Given the description of an element on the screen output the (x, y) to click on. 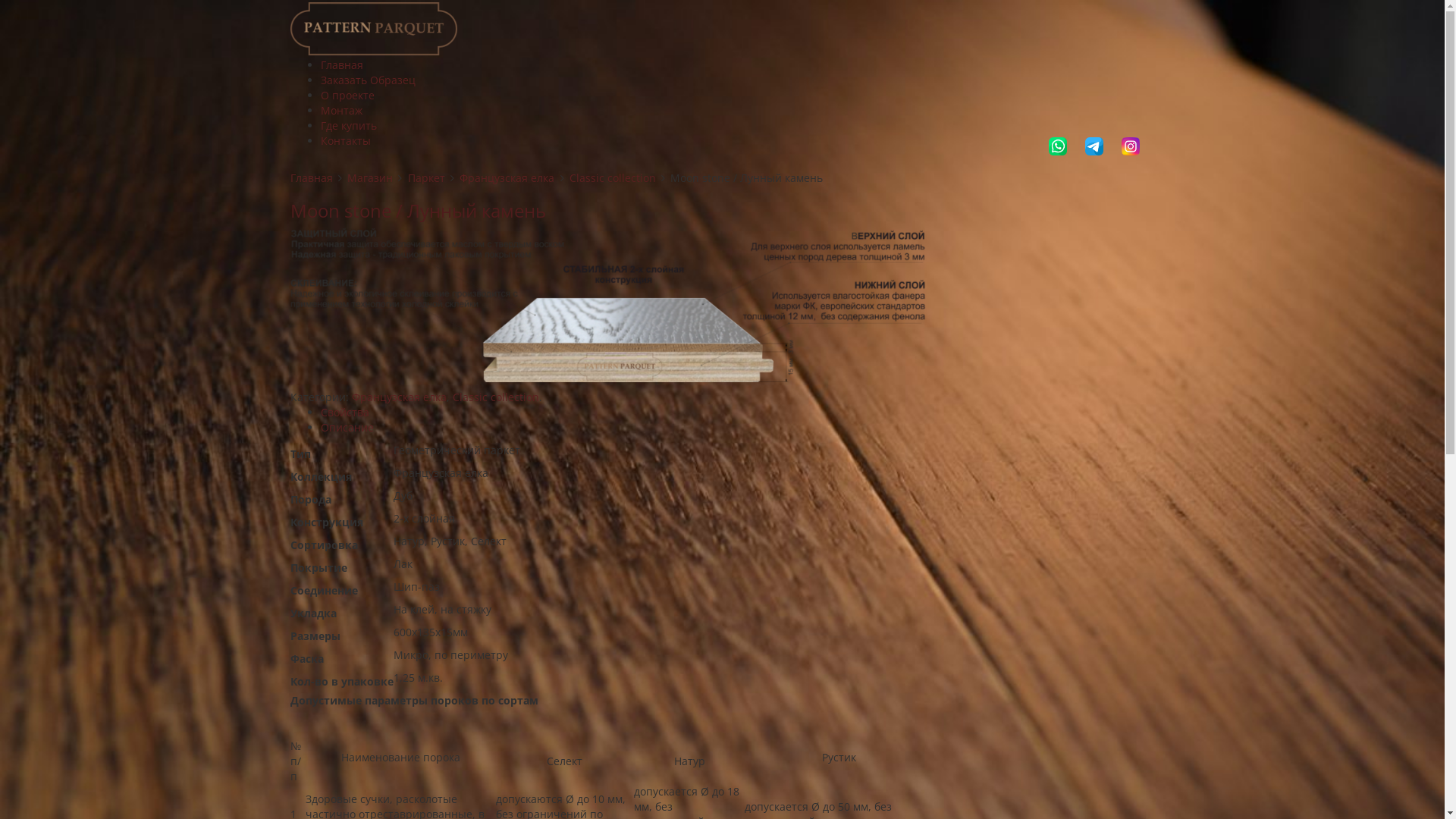
Classic collection Element type: text (494, 396)
pattern.by Element type: hover (372, 27)
Classic collection Element type: text (612, 177)
